Given the description of an element on the screen output the (x, y) to click on. 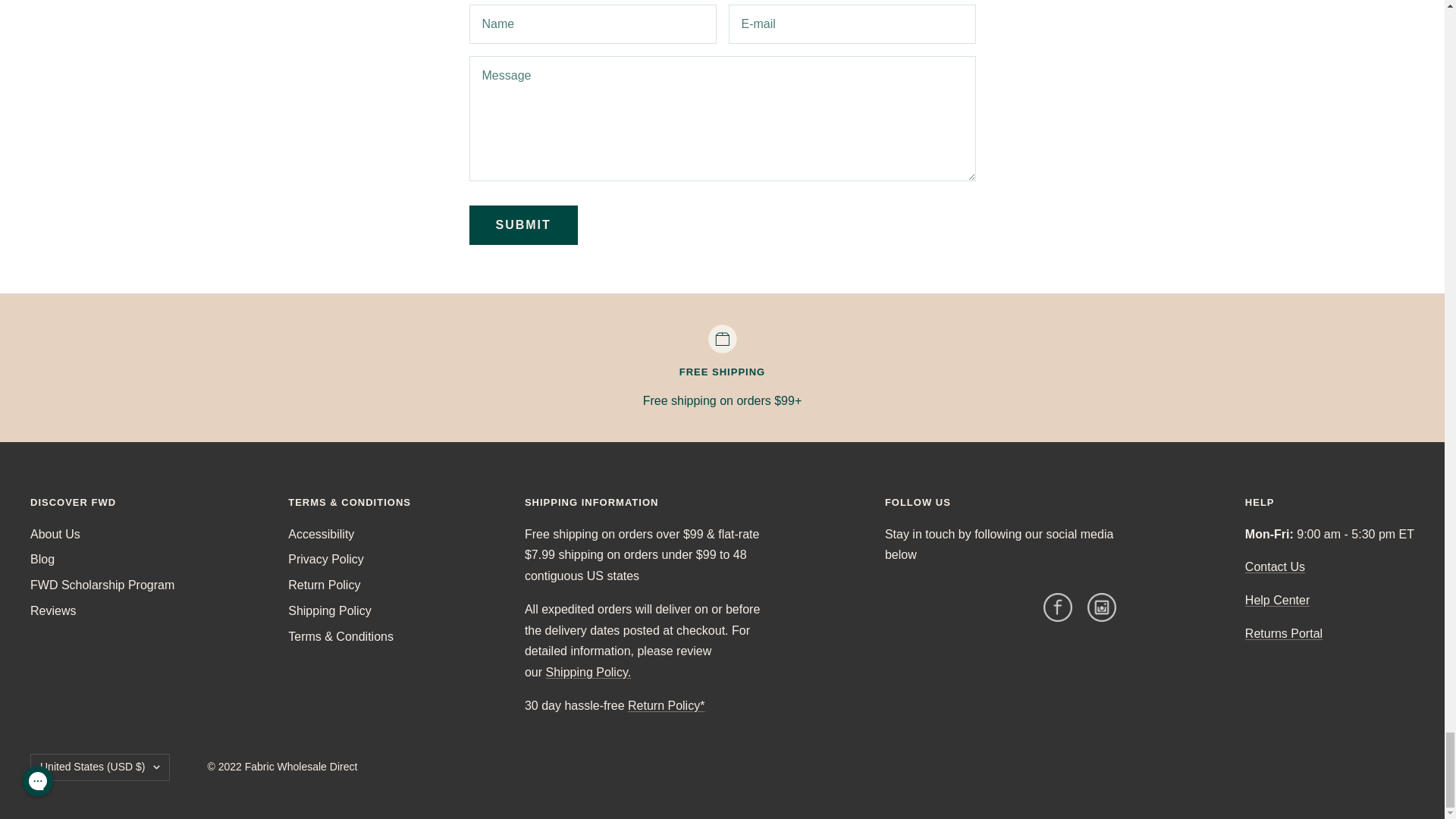
Returns portal (1283, 633)
Contact Us (1274, 566)
Help Center (1276, 599)
